Given the description of an element on the screen output the (x, y) to click on. 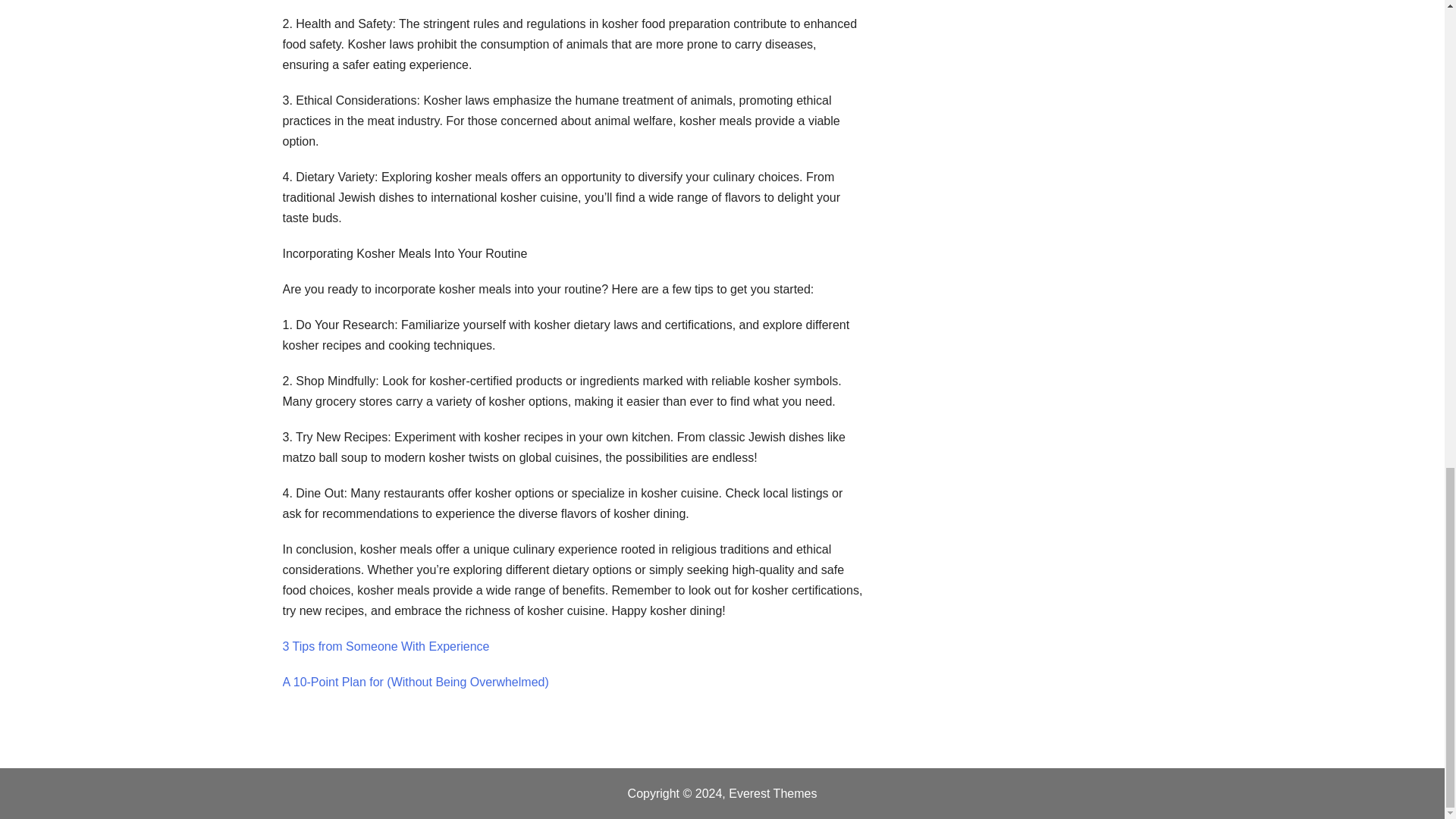
3 Tips from Someone With Experience (385, 645)
